Given the description of an element on the screen output the (x, y) to click on. 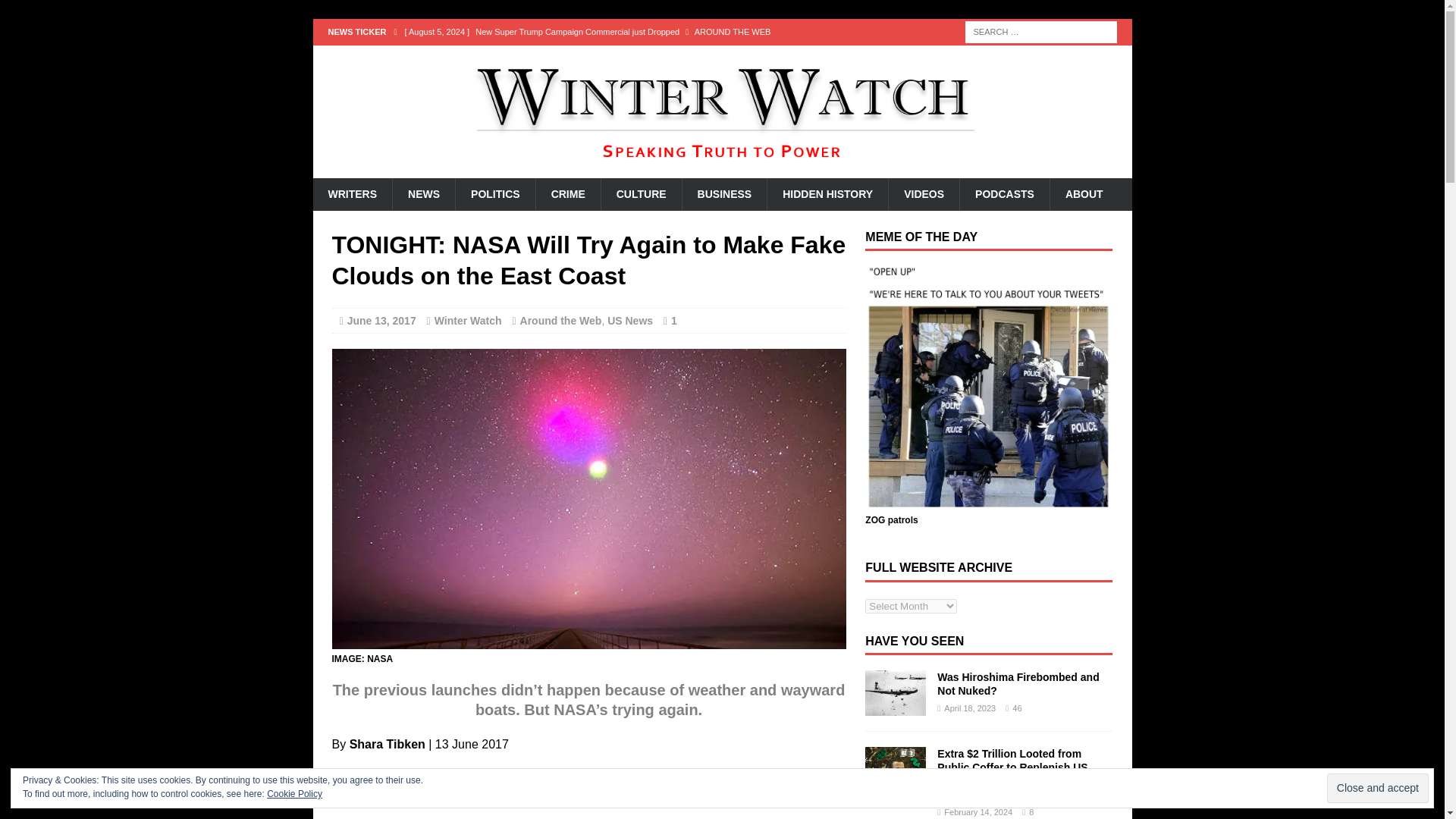
BUSINESS (724, 193)
CULTURE (640, 193)
POLITICS (494, 193)
HIDDEN HISTORY (827, 193)
WRITERS (352, 193)
June 13, 2017 (381, 320)
NEWS (422, 193)
Around the Web (560, 320)
US News (629, 320)
CRIME (567, 193)
Search (37, 11)
VIDEOS (923, 193)
Close and accept (1377, 788)
The Influence of Sabbatean Frankism on the World (627, 57)
PODCASTS (1004, 193)
